Given the description of an element on the screen output the (x, y) to click on. 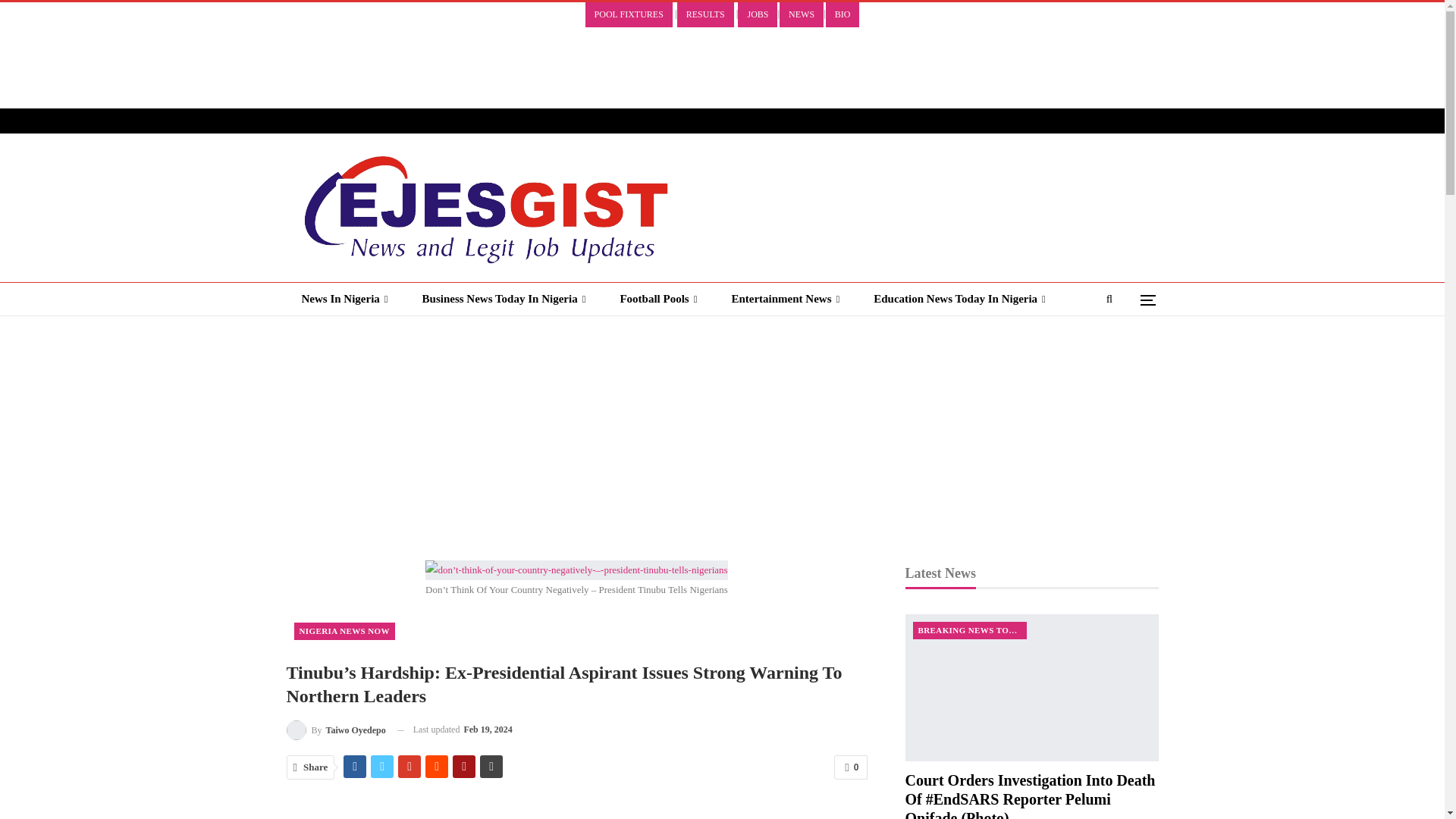
More News (616, 331)
Education News Today In Nigeria (960, 298)
Advertisement (575, 805)
Latest Jobs In Nigeria (359, 331)
Browse Author Articles (335, 729)
JOBS (757, 14)
NEWS (801, 14)
Advertisement (275, 69)
Business News Today In Nigeria (504, 298)
Entertainment News (785, 298)
